Given the description of an element on the screen output the (x, y) to click on. 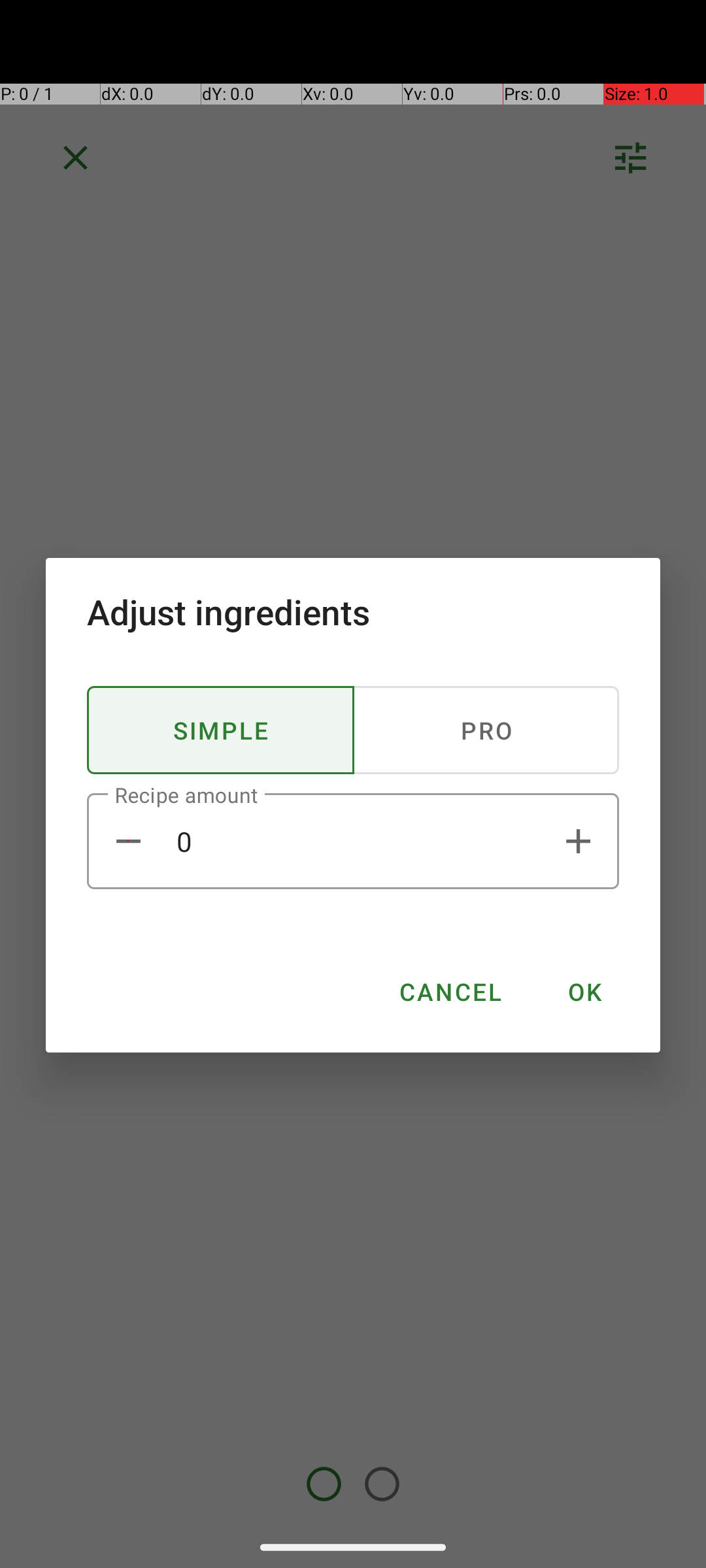
SIMPLE Element type: android.widget.CompoundButton (220, 730)
PRO Element type: android.widget.CompoundButton (485, 730)
